Given the description of an element on the screen output the (x, y) to click on. 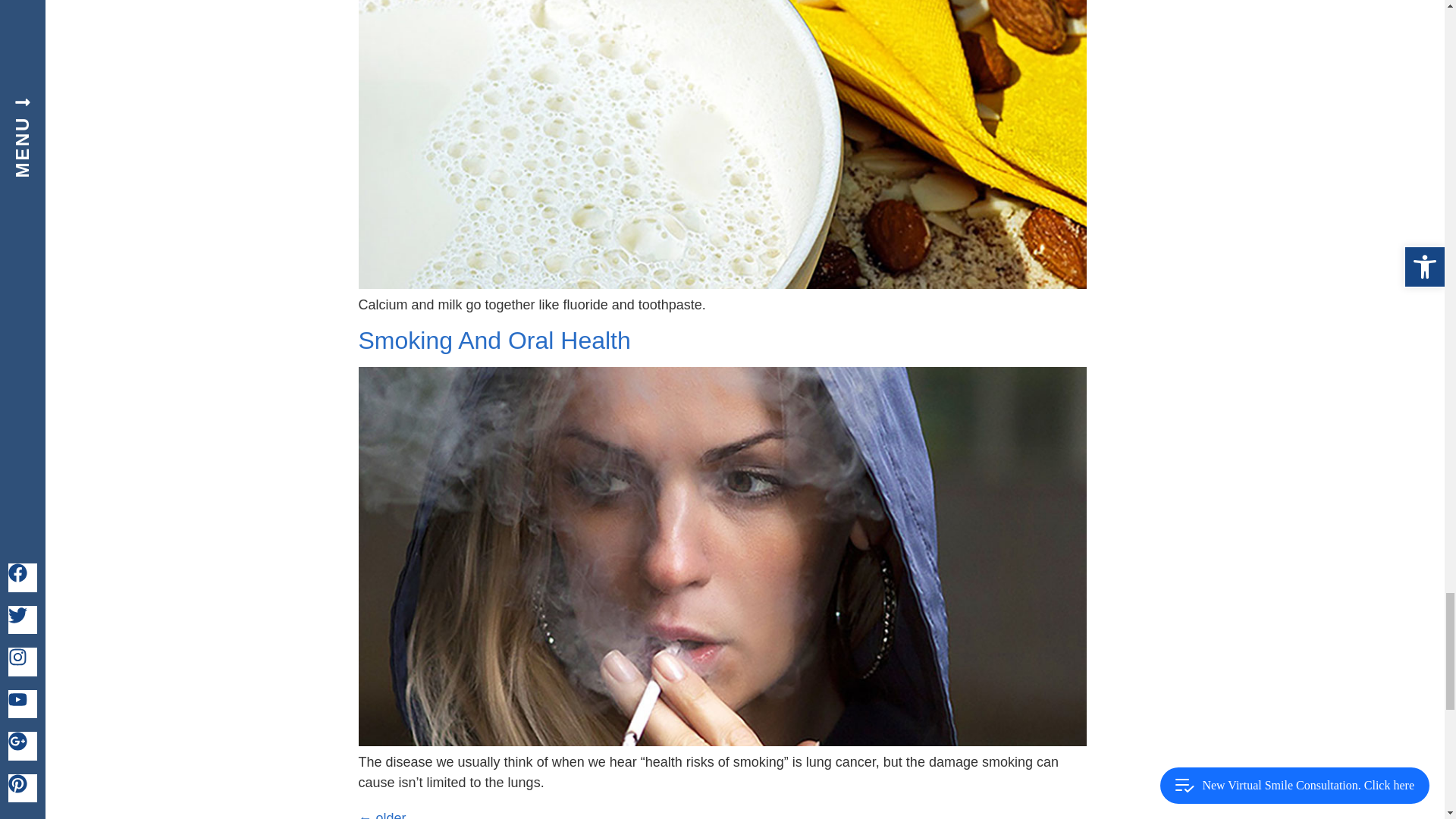
Smoking And Oral Health (494, 339)
